Given the description of an element on the screen output the (x, y) to click on. 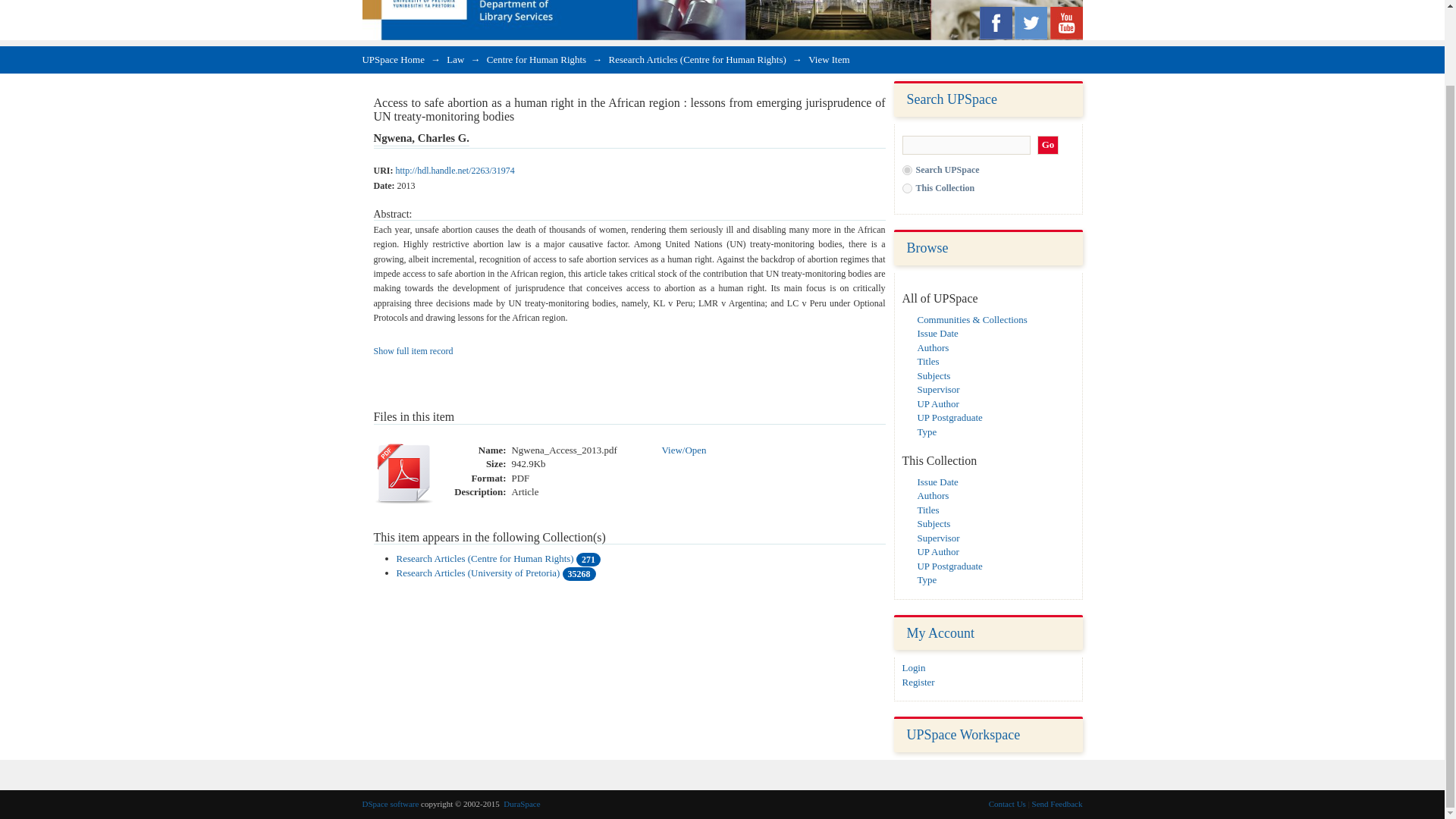
Authors (933, 495)
Supervisor (938, 389)
Show full item record (412, 350)
Go (1047, 144)
Go (1047, 144)
Centre for Human Rights (536, 59)
Supervisor (938, 537)
UP Author (938, 551)
UPSpace Home (393, 59)
Article (524, 492)
Issue Date (937, 481)
Law (455, 59)
Titles (928, 360)
DSpace software (390, 803)
Authors (933, 347)
